Given the description of an element on the screen output the (x, y) to click on. 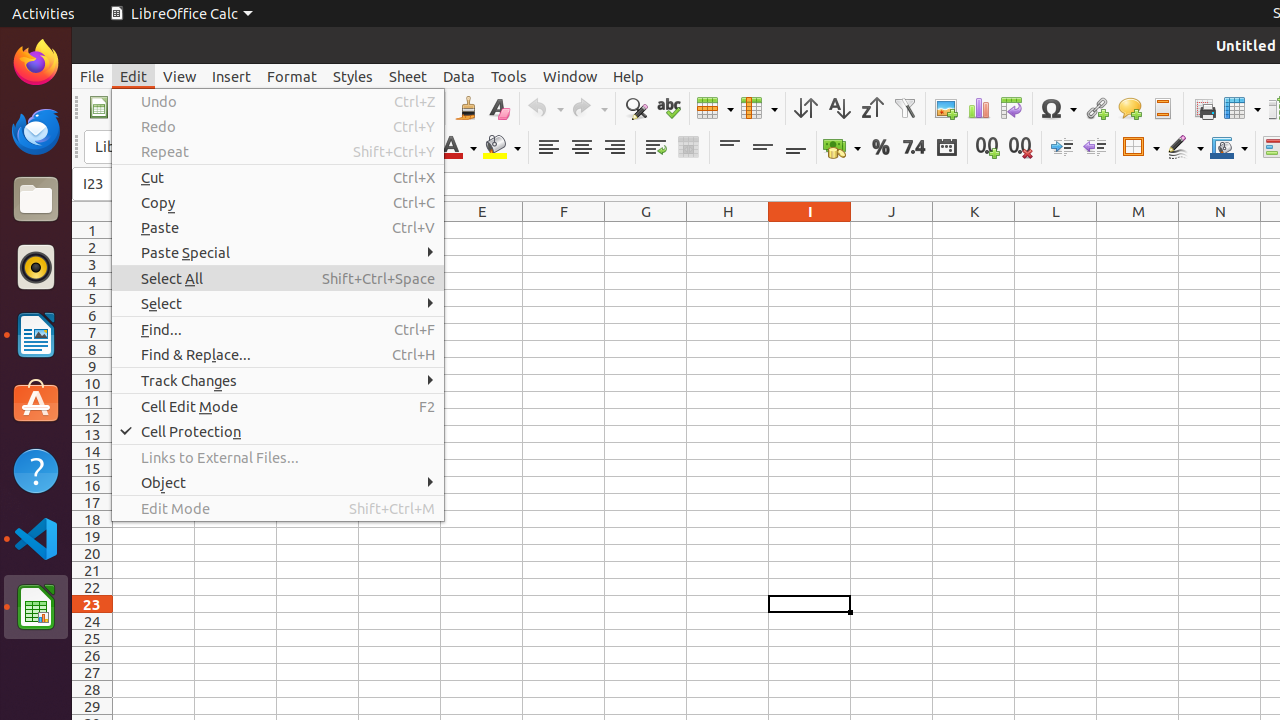
J1 Element type: table-cell (892, 230)
Find & Replace Element type: toggle-button (635, 108)
Select All Element type: menu-item (278, 278)
Align Bottom Element type: push-button (795, 147)
Delete Decimal Place Element type: push-button (1020, 147)
